Given the description of an element on the screen output the (x, y) to click on. 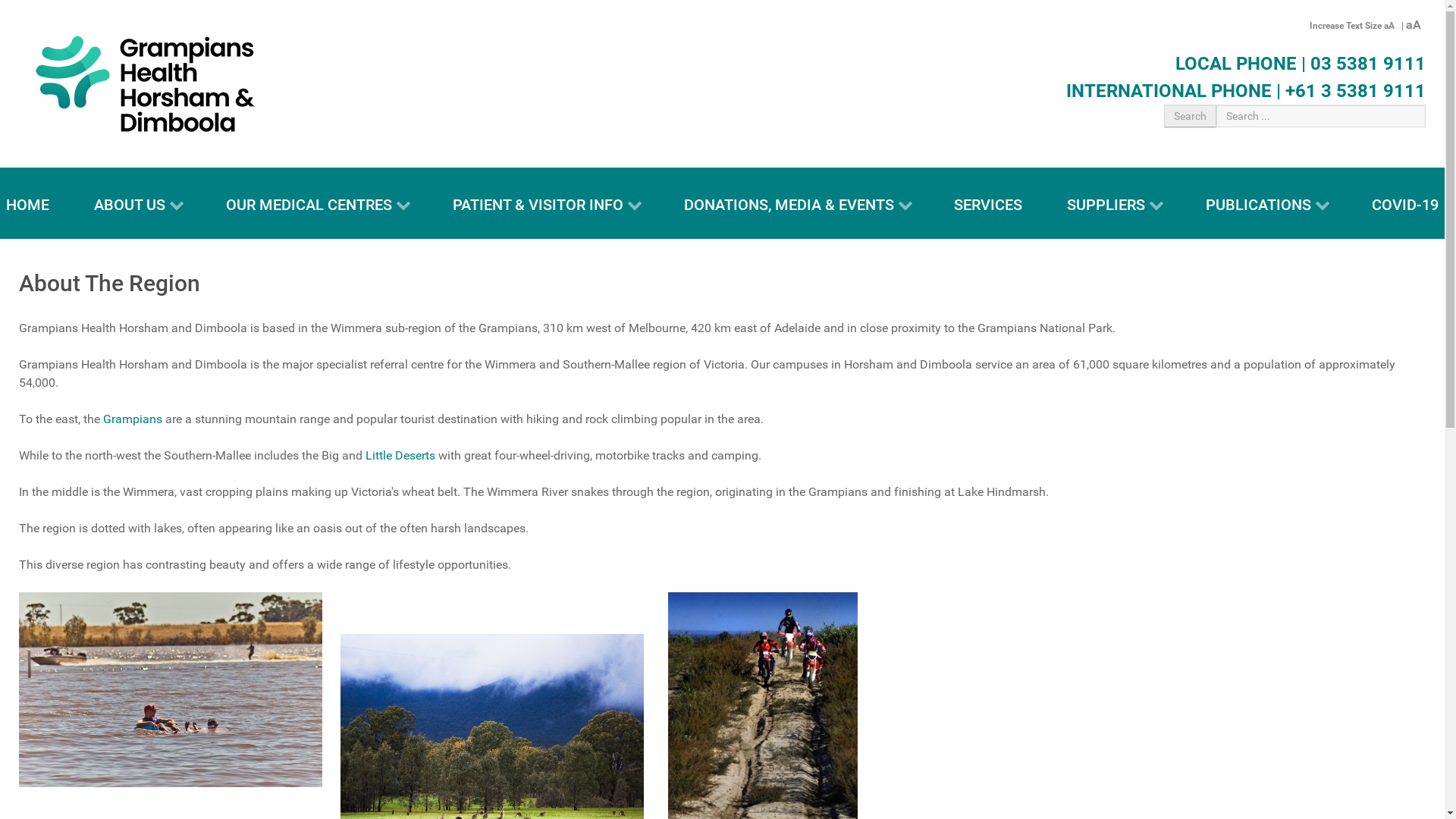
SUPPLIERS Element type: text (1113, 202)
HOME Element type: text (27, 202)
SERVICES Element type: text (987, 202)
Little Deserts Element type: text (400, 455)
PATIENT & VISITOR INFO Element type: text (545, 202)
aA Element type: text (1388, 25)
ABOUT US Element type: text (137, 202)
Grampians Health Horsham & Dimboola Element type: hover (144, 83)
aA Element type: text (1413, 24)
COVID-19 Element type: text (1404, 202)
PUBLICATIONS Element type: text (1266, 202)
Search Element type: text (1190, 115)
Grampians Element type: text (132, 418)
DONATIONS, MEDIA & EVENTS Element type: text (796, 202)
OUR MEDICAL CENTRES Element type: text (316, 202)
